Given the description of an element on the screen output the (x, y) to click on. 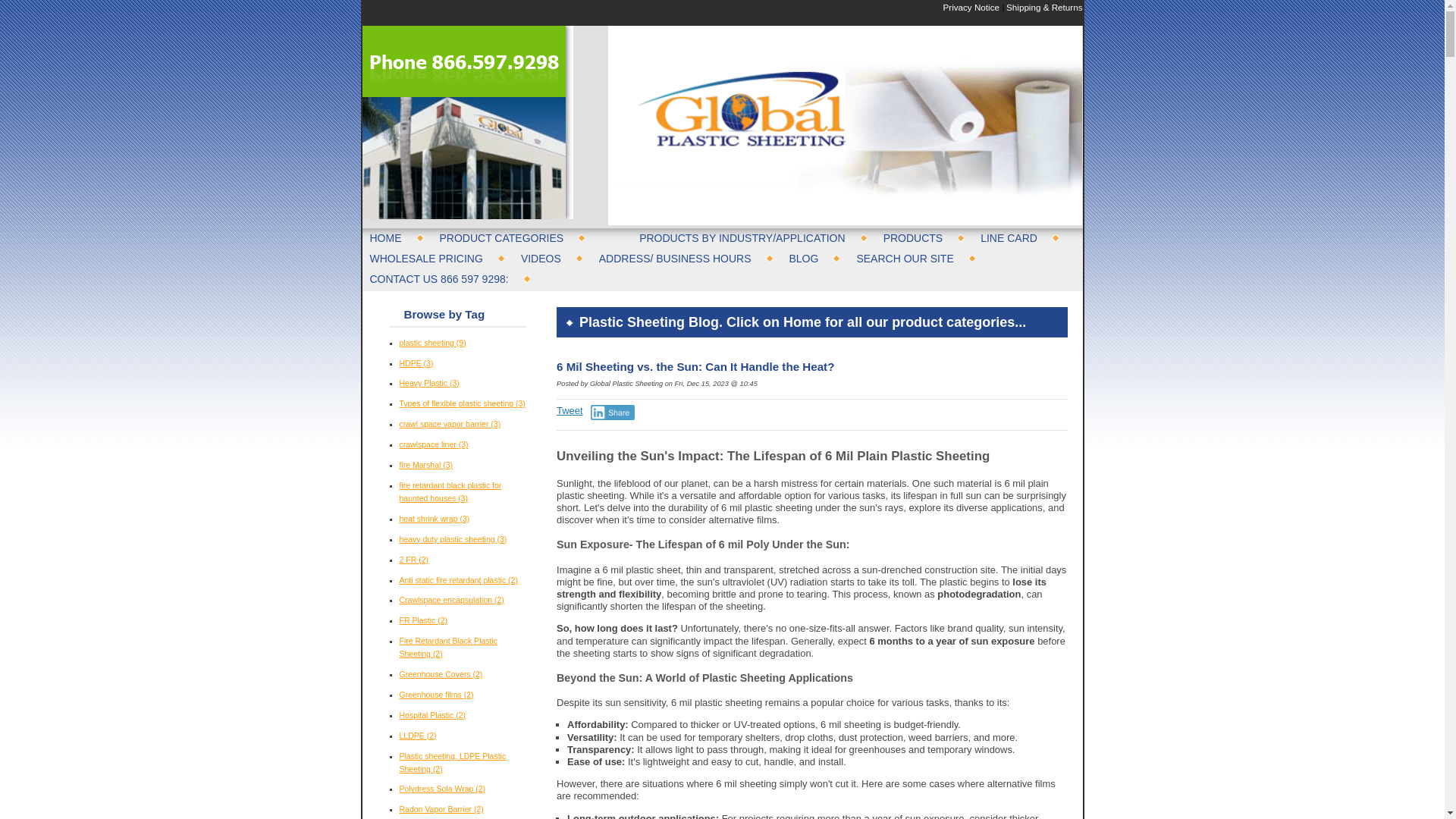
Privacy Notice (970, 7)
HOME (397, 237)
PRODUCT CATEGORIES (512, 237)
